Given the description of an element on the screen output the (x, y) to click on. 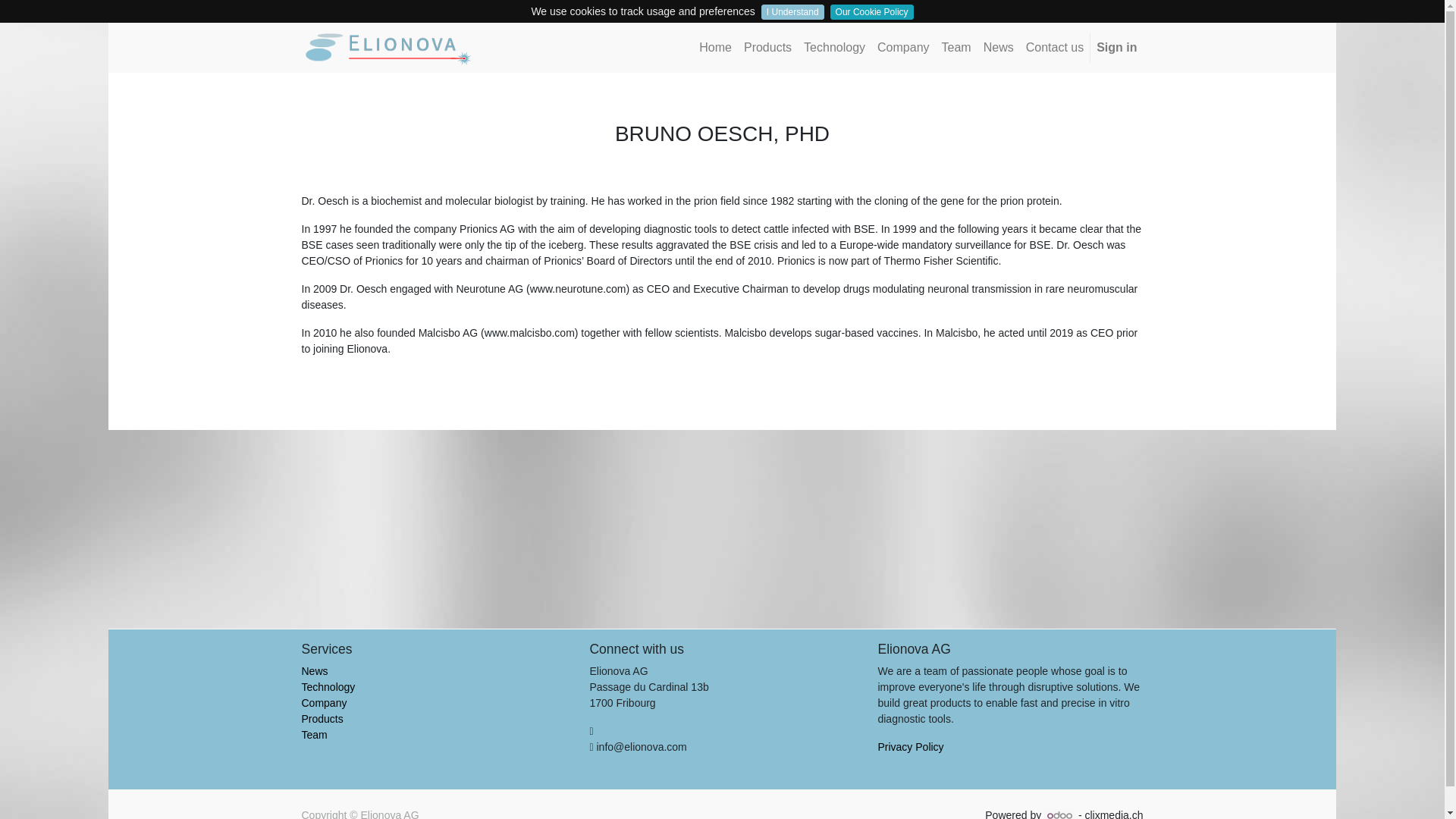
Company (902, 47)
Products (767, 47)
Privacy Policy (910, 746)
Technology (328, 686)
Team (956, 47)
Contact us (1054, 47)
News (315, 671)
News (998, 47)
elionova.com (389, 47)
Our Cookie Policy (871, 11)
